Given the description of an element on the screen output the (x, y) to click on. 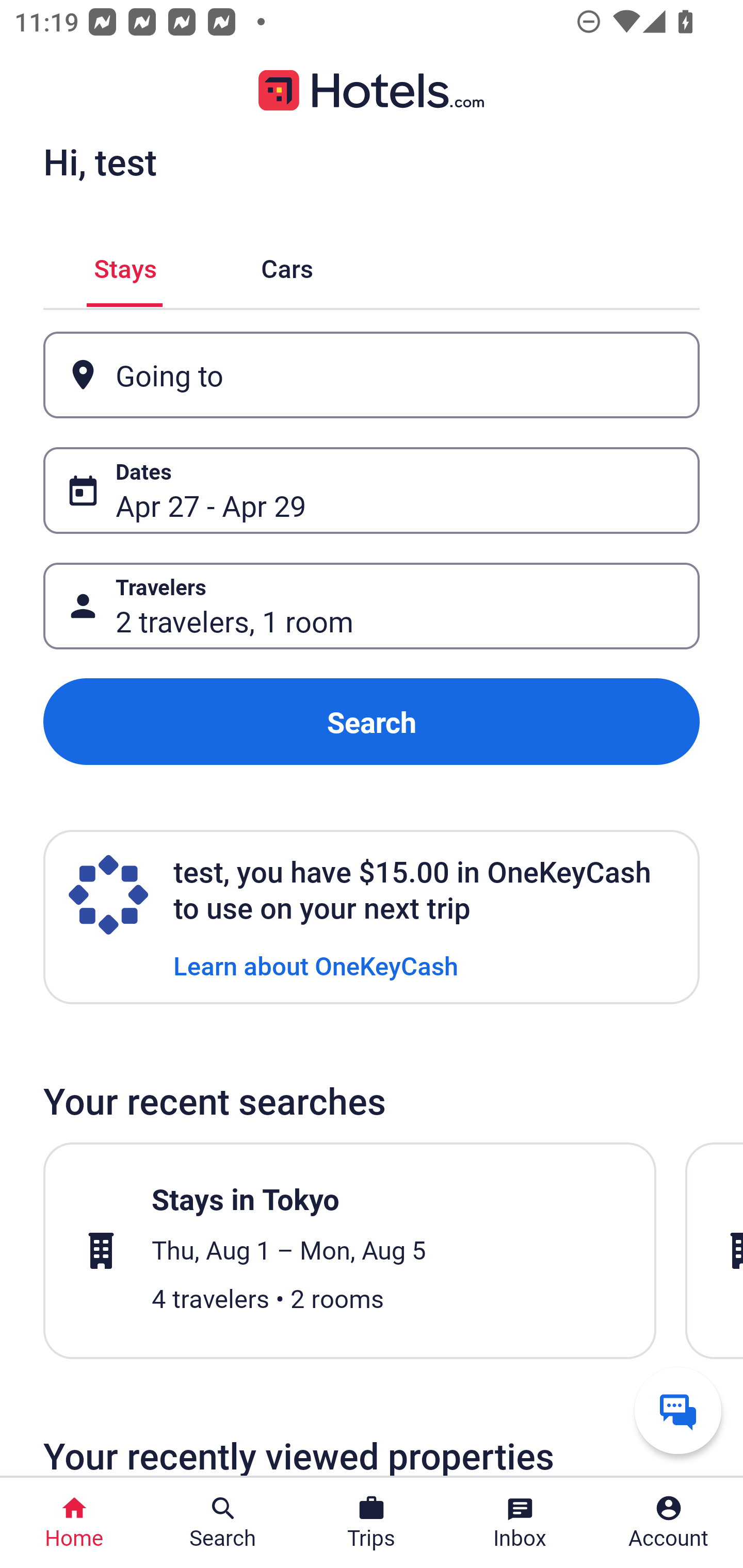
Hi, test (99, 161)
Cars (286, 265)
Going to Button (371, 375)
Dates Button Apr 27 - Apr 29 (371, 489)
Travelers Button 2 travelers, 1 room (371, 605)
Search (371, 721)
Learn about OneKeyCash Learn about OneKeyCash Link (315, 964)
Get help from a virtual agent (677, 1410)
Search Search Button (222, 1522)
Trips Trips Button (371, 1522)
Inbox Inbox Button (519, 1522)
Account Profile. Button (668, 1522)
